Given the description of an element on the screen output the (x, y) to click on. 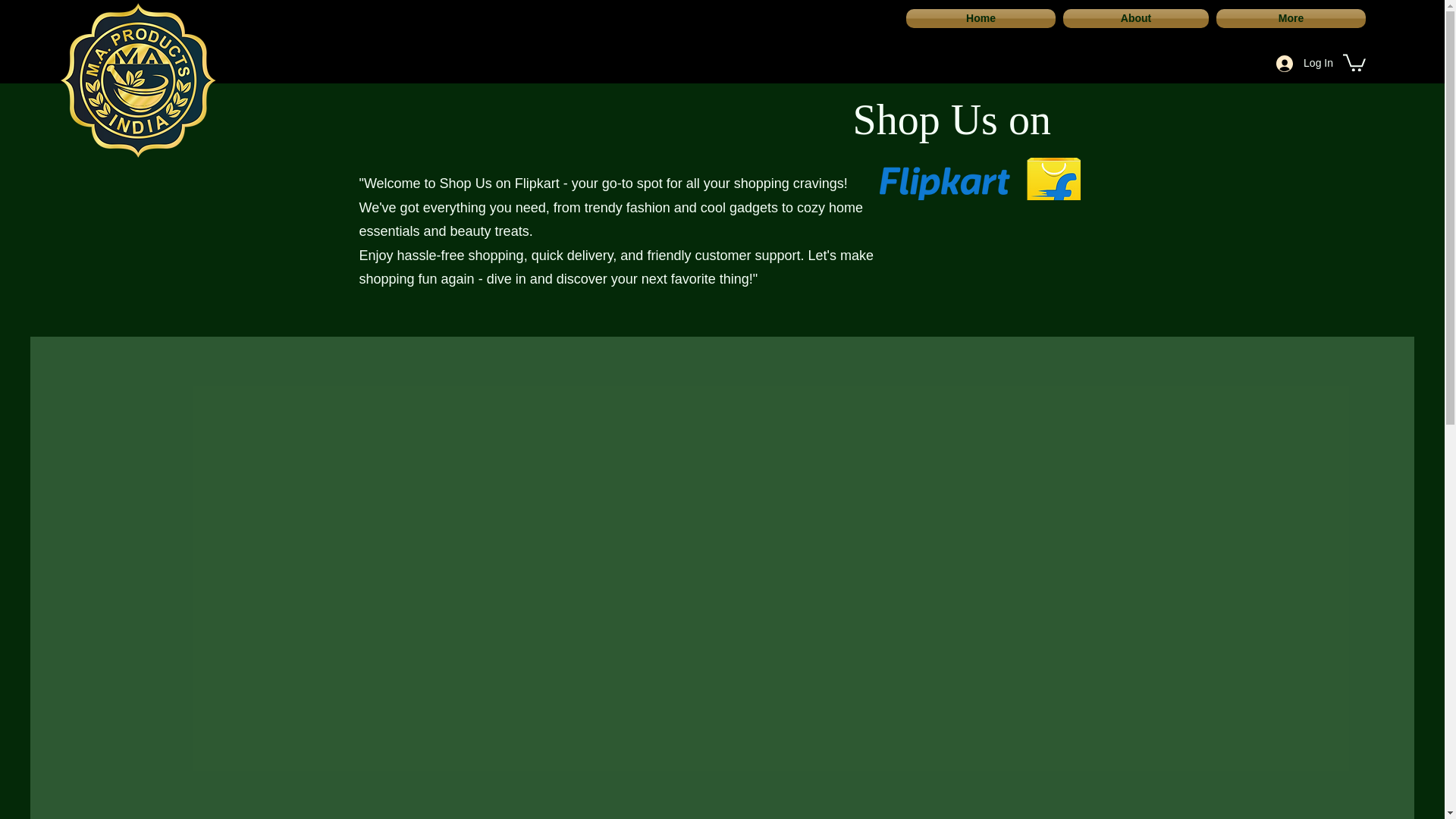
Log In (1304, 62)
About (1135, 18)
Home (982, 18)
